Given the description of an element on the screen output the (x, y) to click on. 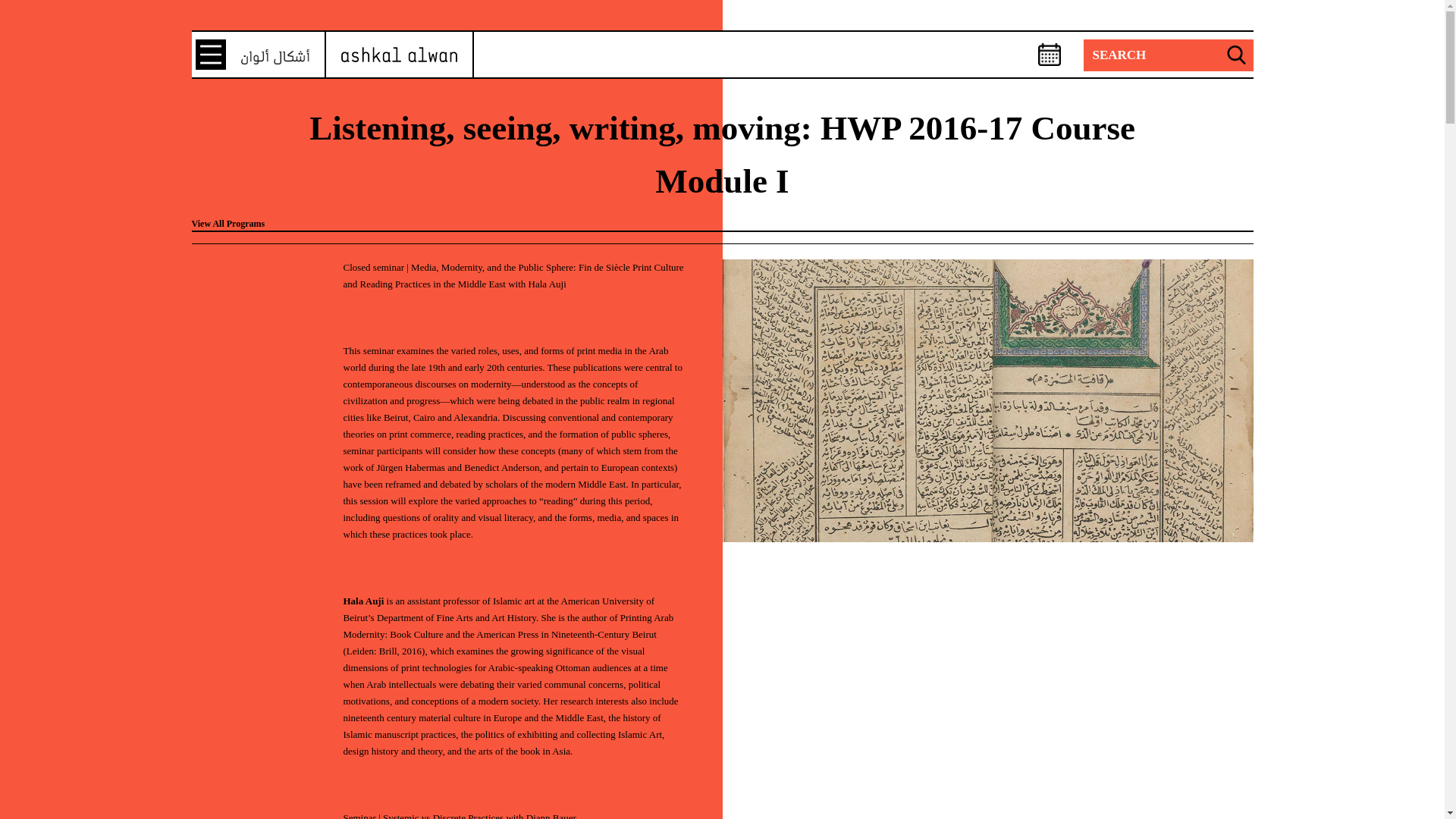
View All Programs (227, 223)
